Given the description of an element on the screen output the (x, y) to click on. 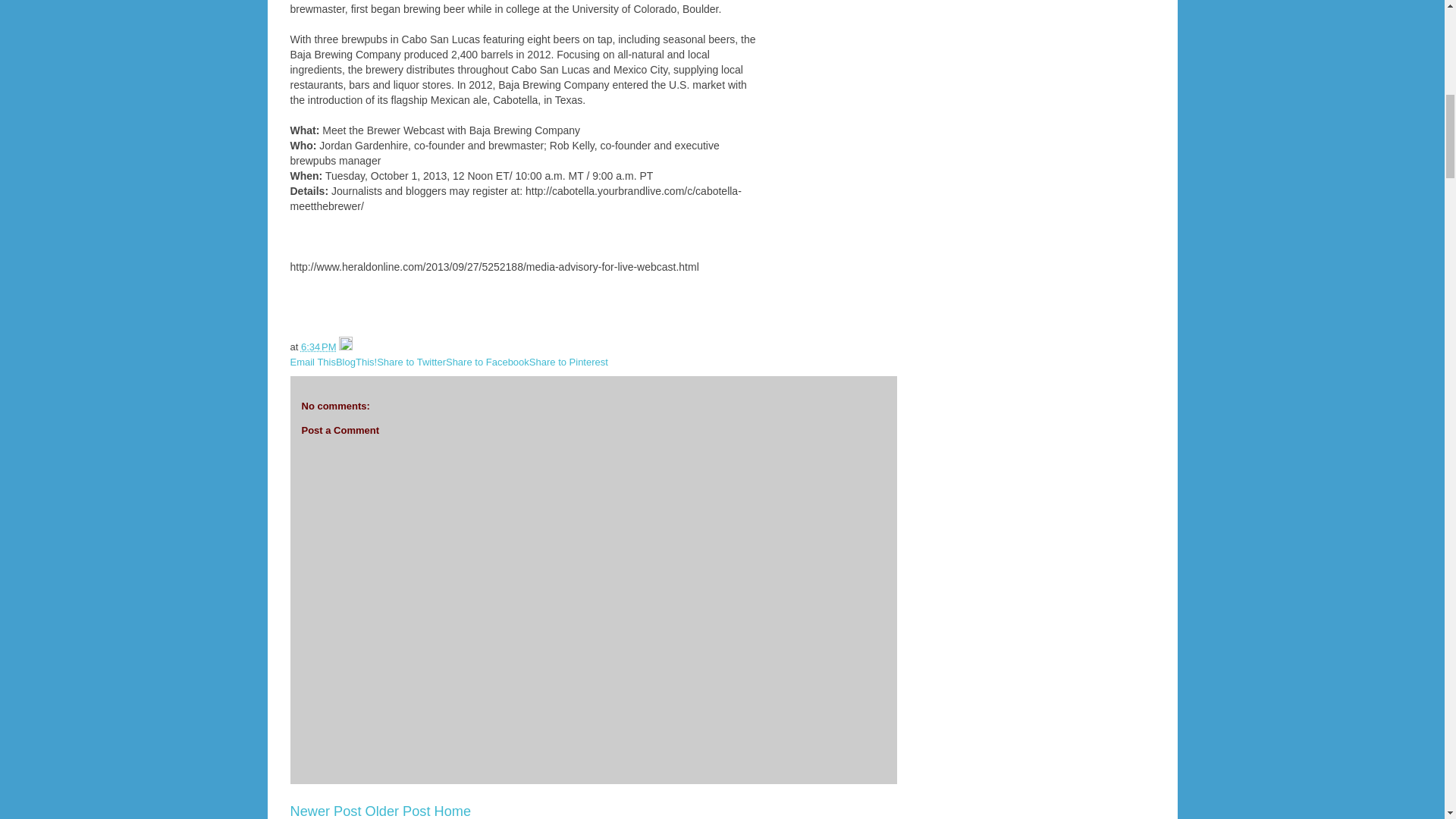
BlogThis! (356, 361)
Newer Post (325, 811)
BlogThis! (356, 361)
Share to Facebook (487, 361)
Share to Twitter (411, 361)
Share to Twitter (411, 361)
Older Post (397, 811)
Share to Pinterest (568, 361)
Home (452, 811)
Share to Pinterest (568, 361)
permanent link (318, 346)
Newer Post (325, 811)
Older Post (397, 811)
Edit Post (345, 346)
